Given the description of an element on the screen output the (x, y) to click on. 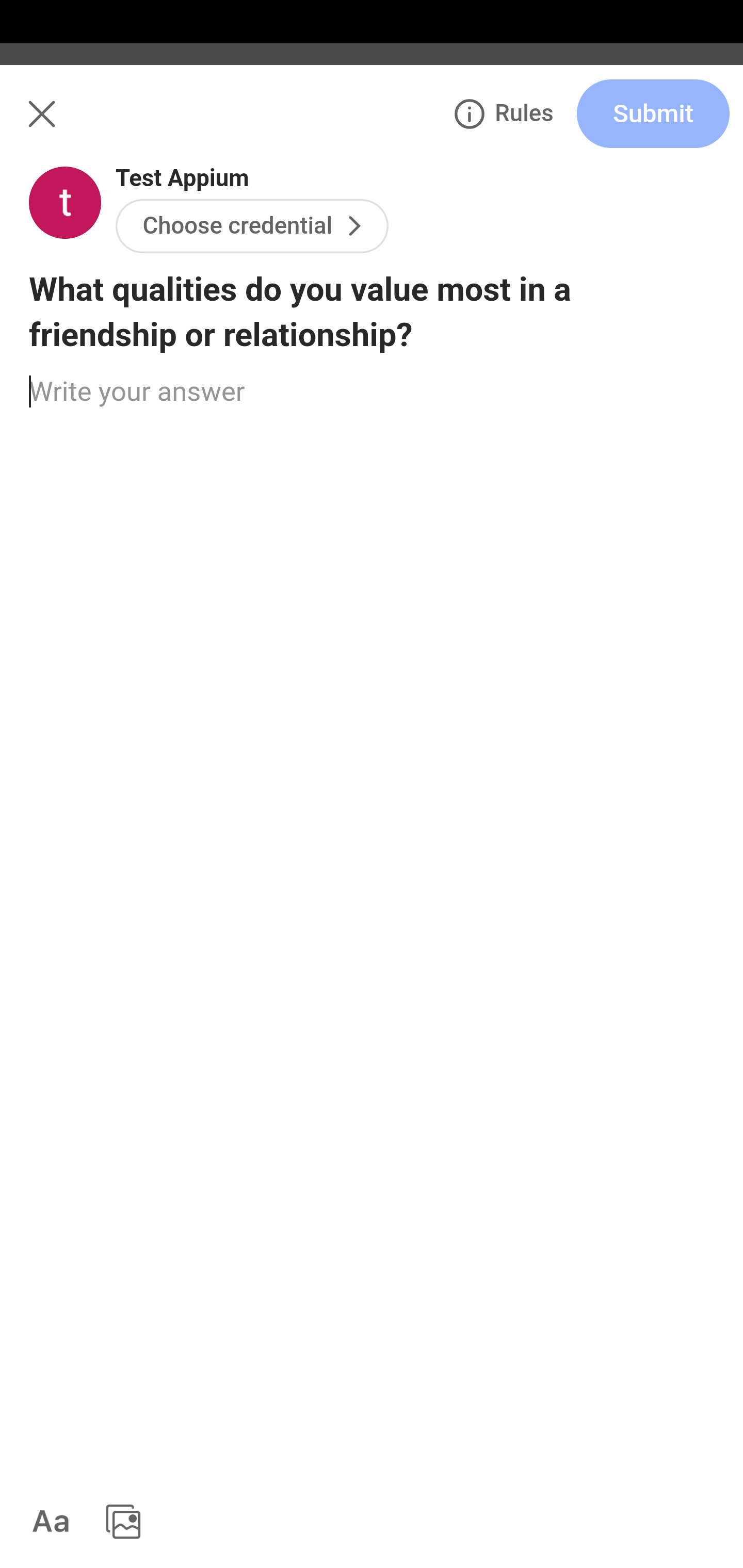
Me Answer Search Add (371, 125)
Me (64, 125)
For you (68, 210)
